Given the description of an element on the screen output the (x, y) to click on. 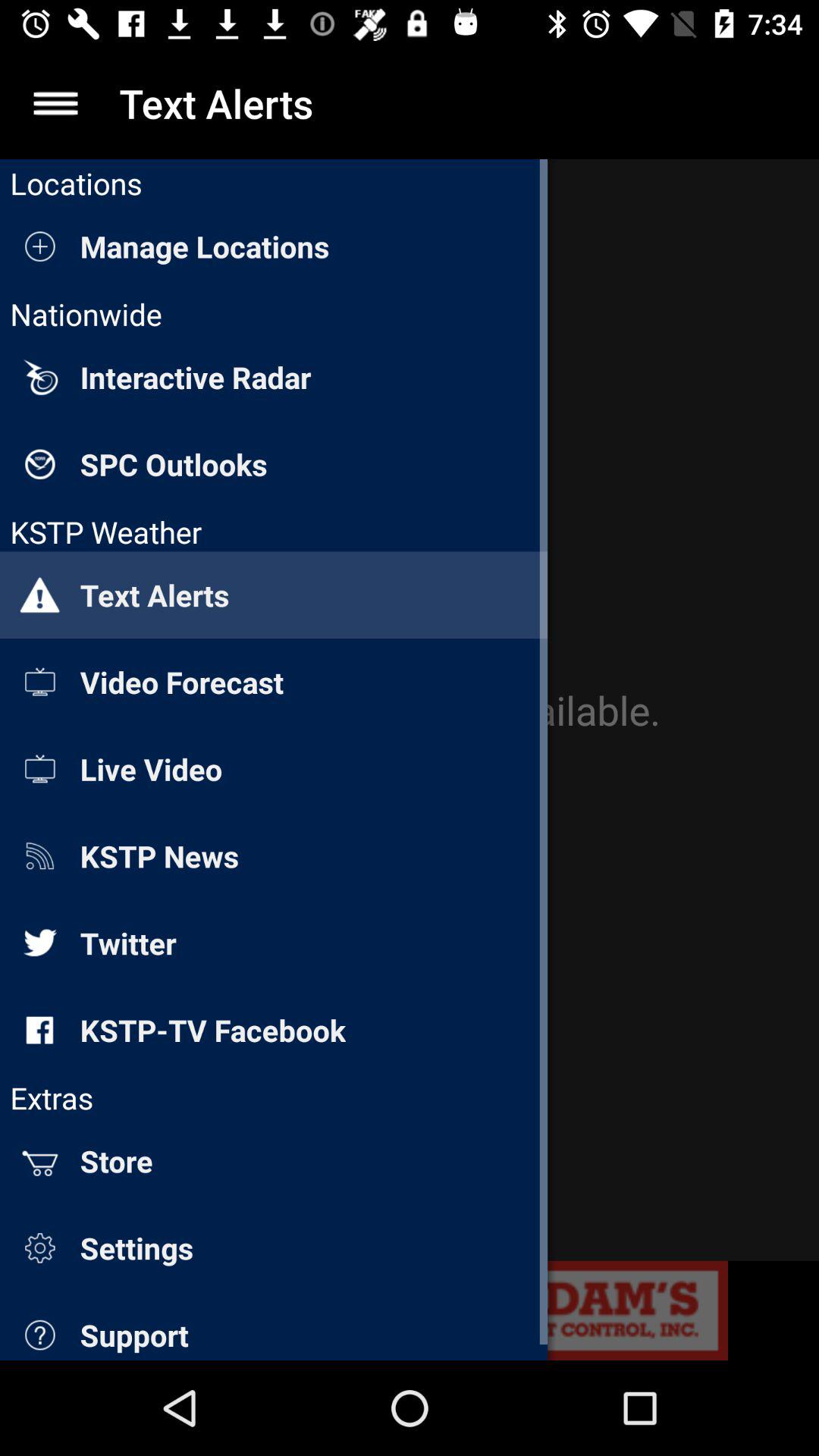
select item above no alerts currently item (55, 103)
